Given the description of an element on the screen output the (x, y) to click on. 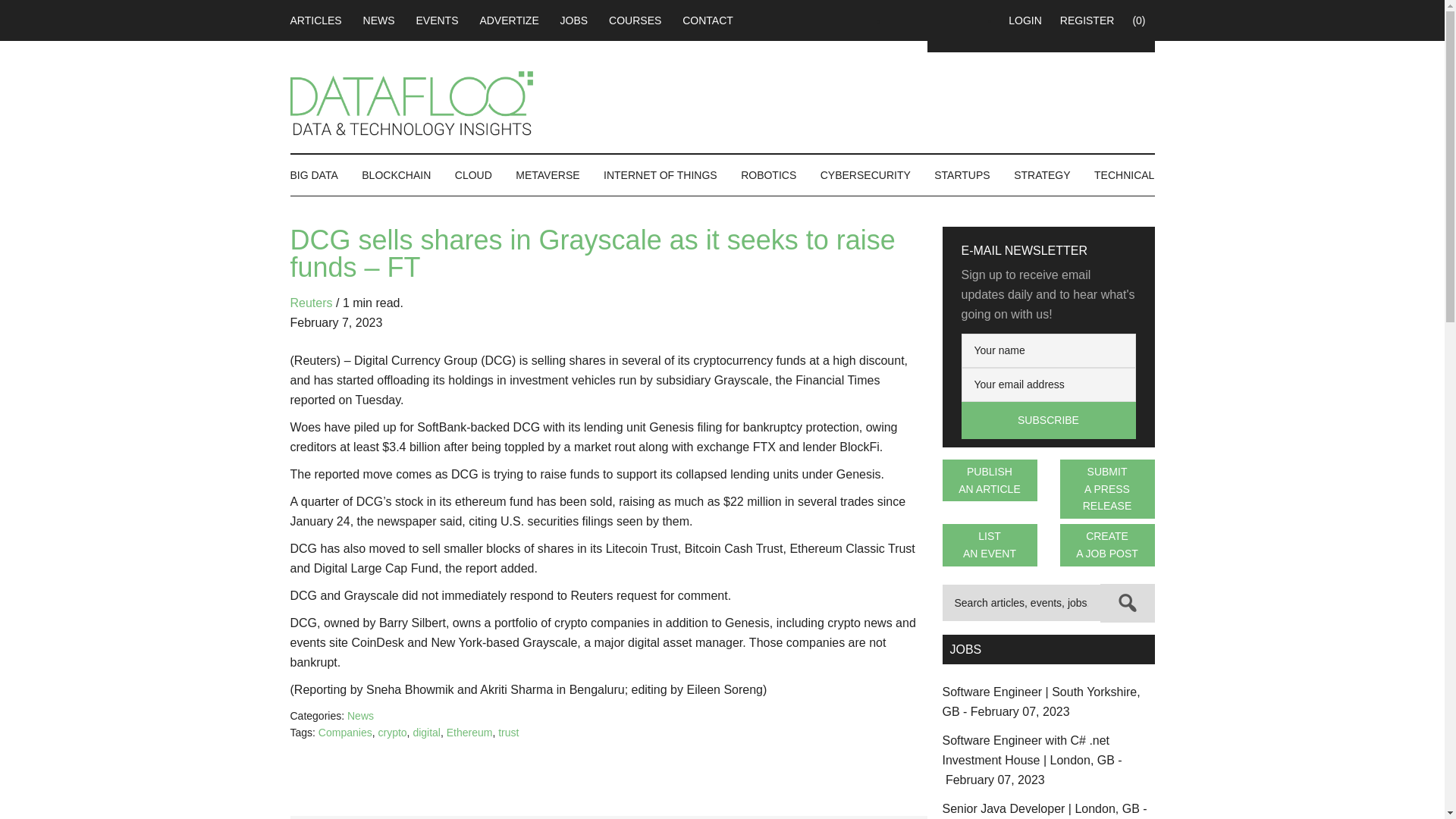
Senior Java Developer (1044, 810)
INTERNET OF THINGS (660, 174)
Subscribe (1047, 420)
REGISTER (1087, 20)
BLOCKCHAIN (395, 174)
RSS (957, 19)
METAVERSE (547, 174)
JOBS (573, 20)
NEWS (378, 20)
CONTACT (707, 20)
